Given the description of an element on the screen output the (x, y) to click on. 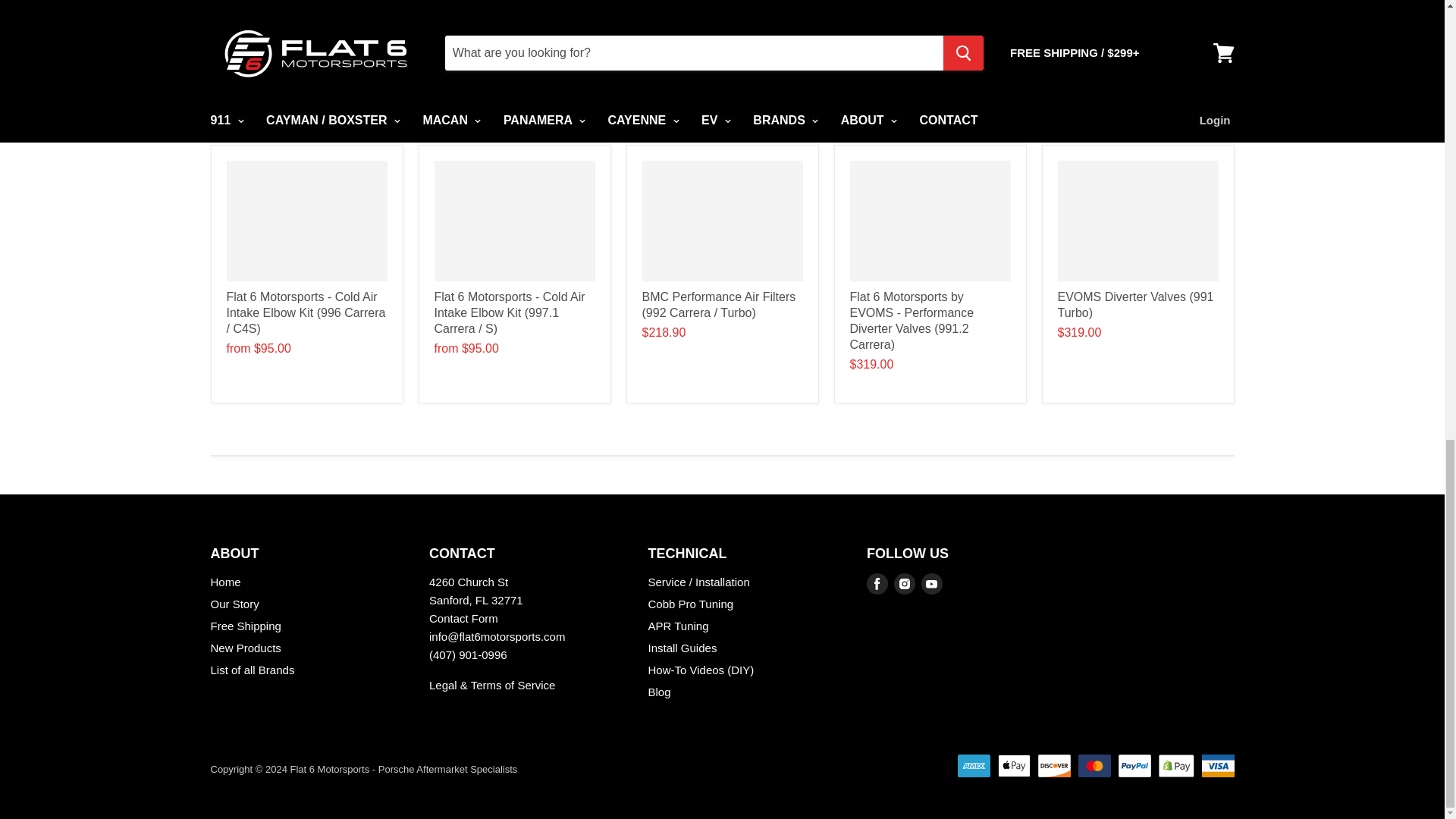
Legal (491, 684)
Youtube (931, 583)
Facebook (877, 583)
Instagram (904, 583)
